Given the description of an element on the screen output the (x, y) to click on. 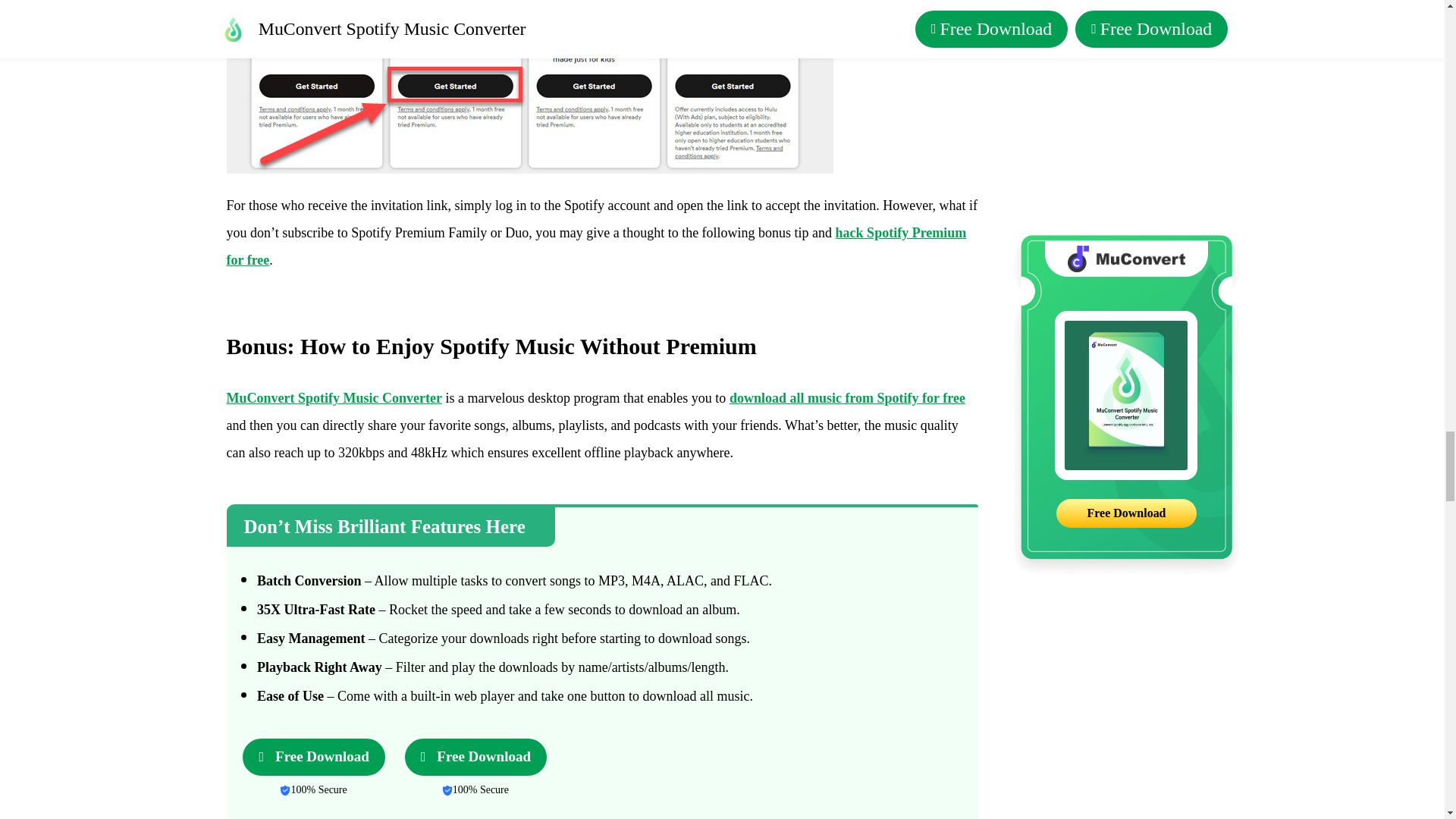
Free Download (313, 756)
download all music from Spotify for free (847, 397)
hack Spotify Premium for free (595, 246)
MuConvert Spotify Music Converter (333, 397)
